Given the description of an element on the screen output the (x, y) to click on. 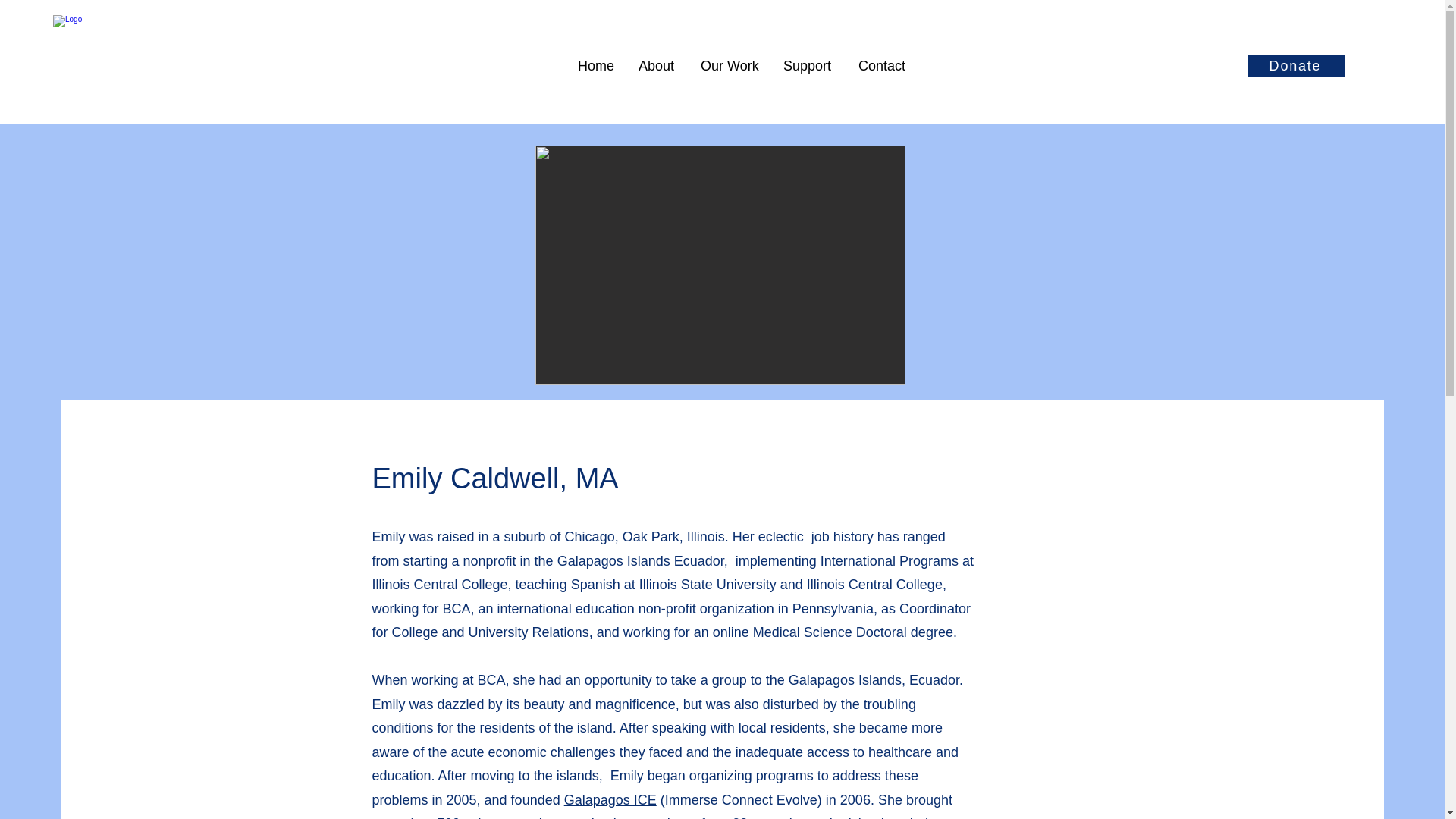
Galapagos ICE (610, 798)
Home (596, 65)
Donate (1296, 65)
Support (809, 65)
Contact (883, 65)
Our Work (729, 65)
About (657, 65)
